Given the description of an element on the screen output the (x, y) to click on. 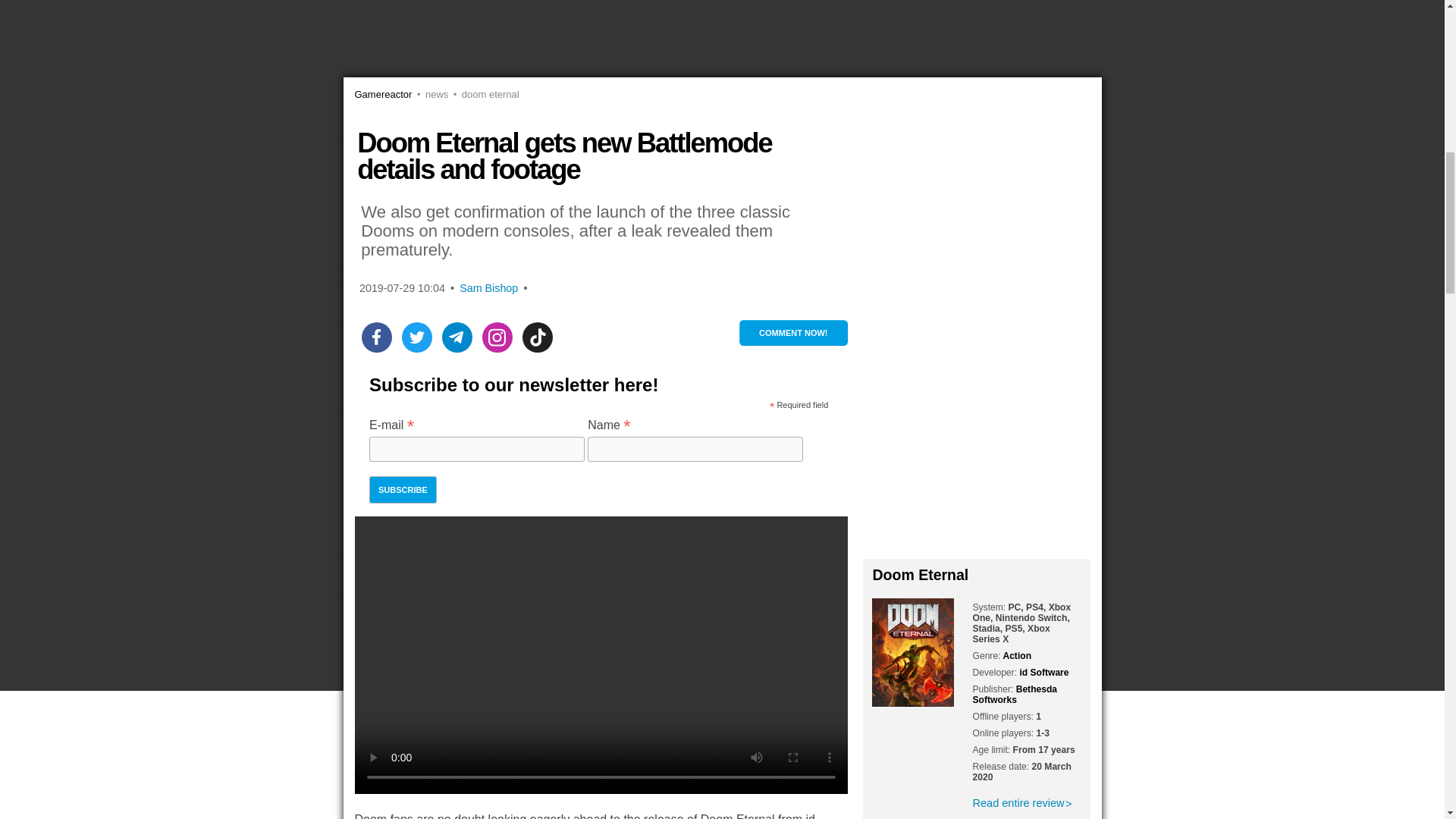
Gamereactor (383, 93)
Subscribe (402, 489)
Doom Eternal (483, 93)
Gamereactor news (430, 93)
